Given the description of an element on the screen output the (x, y) to click on. 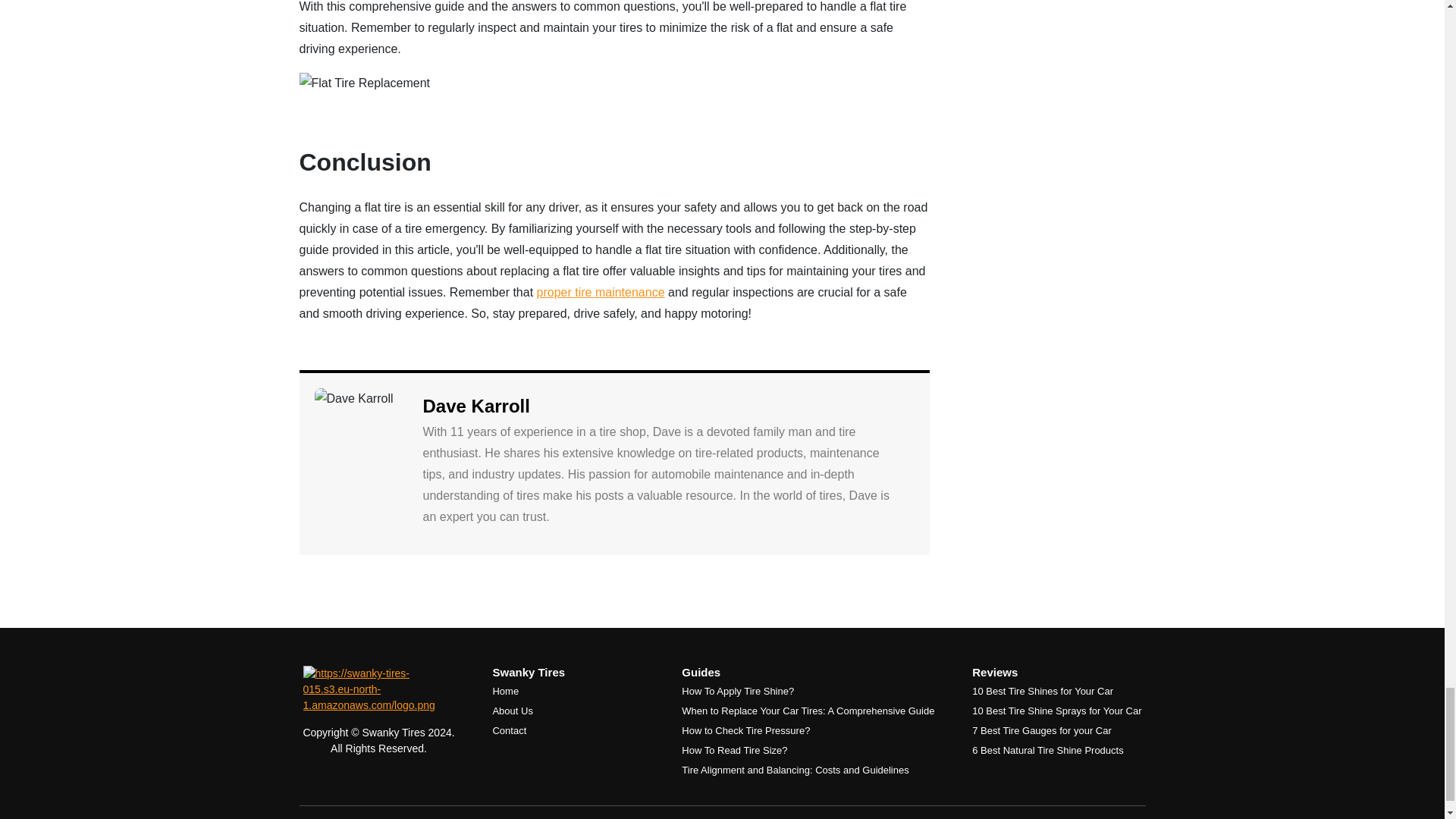
About Us (512, 710)
How To Read Tire Size? (734, 749)
Contact (508, 730)
Tire Alignment and Balancing: Costs and Guidelines (794, 769)
How To Apply Tire Shine? (737, 690)
How to Check Tire Pressure? (745, 730)
proper tire maintenance (601, 291)
When to Replace Your Car Tires: A Comprehensive Guide (807, 710)
Home (505, 690)
10 Best Tire Shines for Your Car (1042, 690)
